Given the description of an element on the screen output the (x, y) to click on. 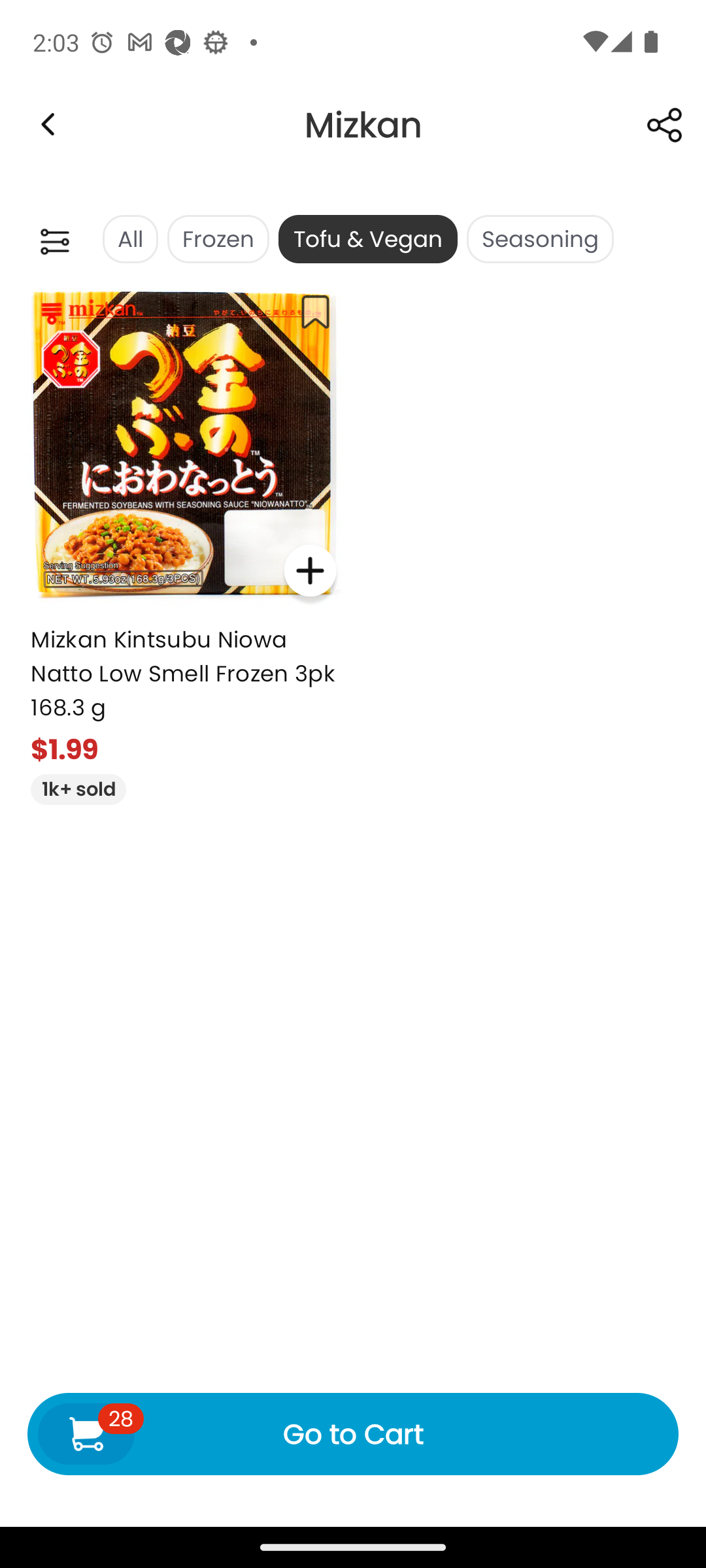
All (130, 238)
Frozen (217, 238)
Tofu & Vegan (367, 238)
Seasoning (539, 238)
28 Go to Cart (352, 1433)
